Given the description of an element on the screen output the (x, y) to click on. 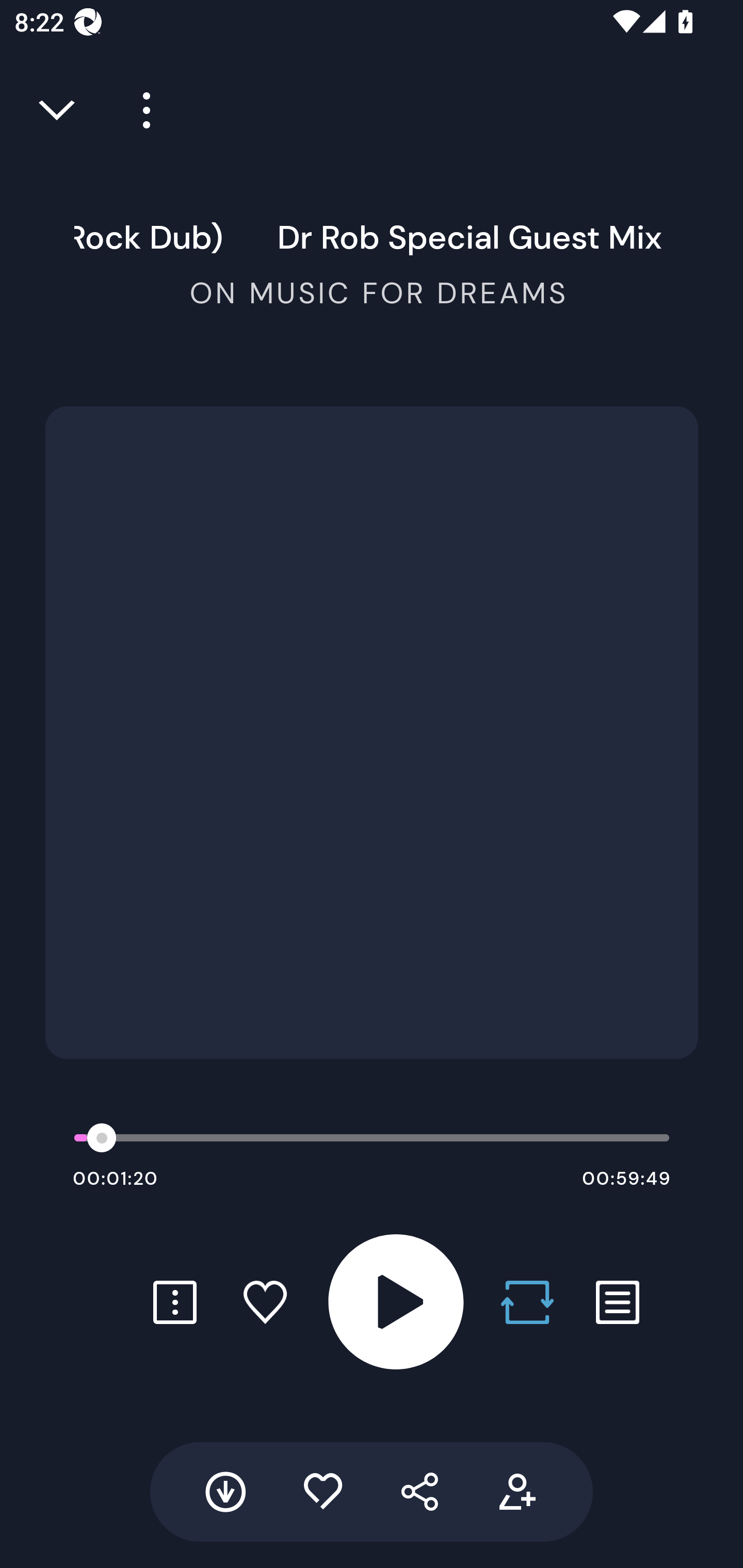
Close full player (58, 110)
Player more options button (139, 110)
Repost button (527, 1301)
